Given the description of an element on the screen output the (x, y) to click on. 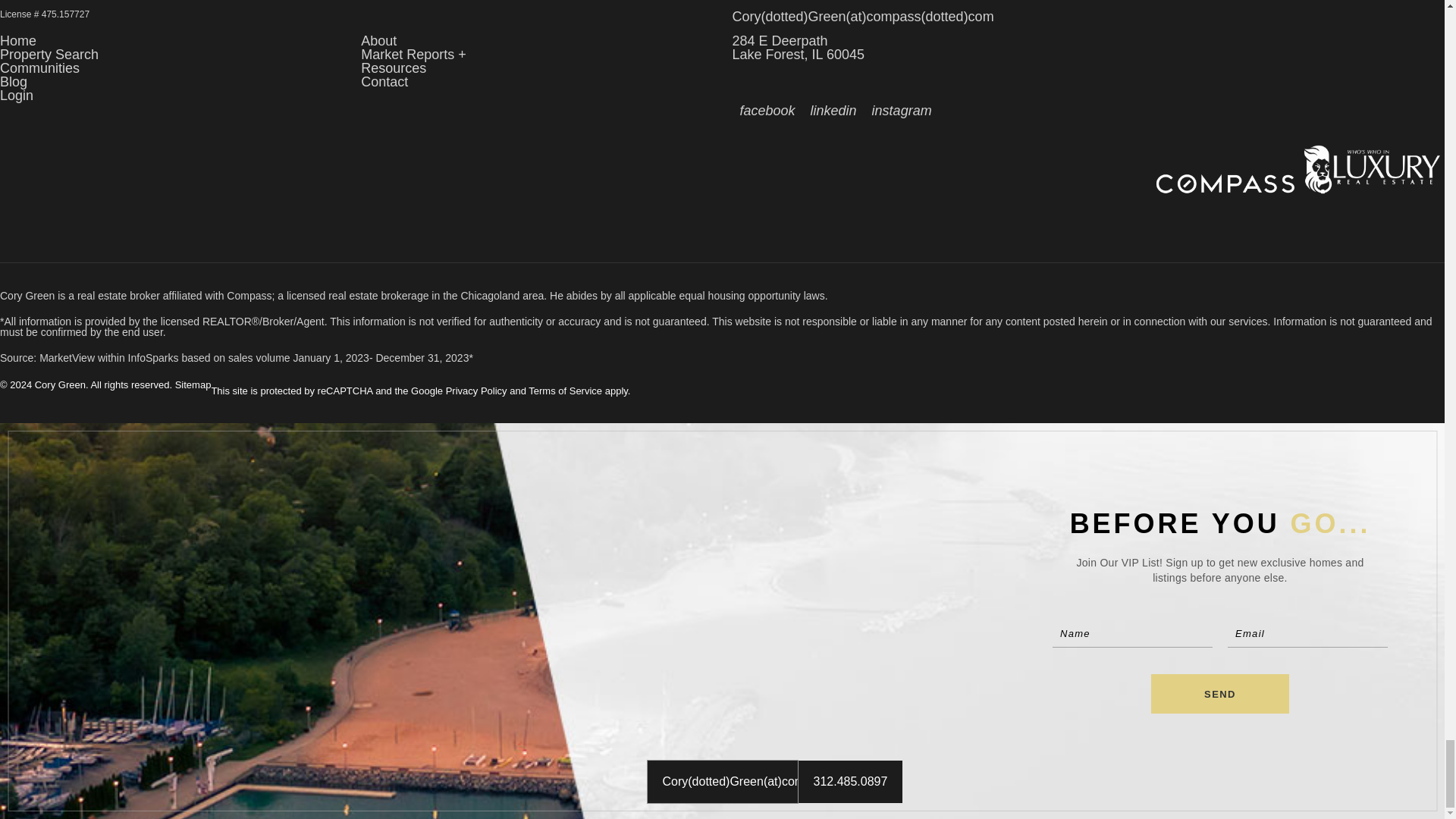
Send (1219, 693)
